Given the description of an element on the screen output the (x, y) to click on. 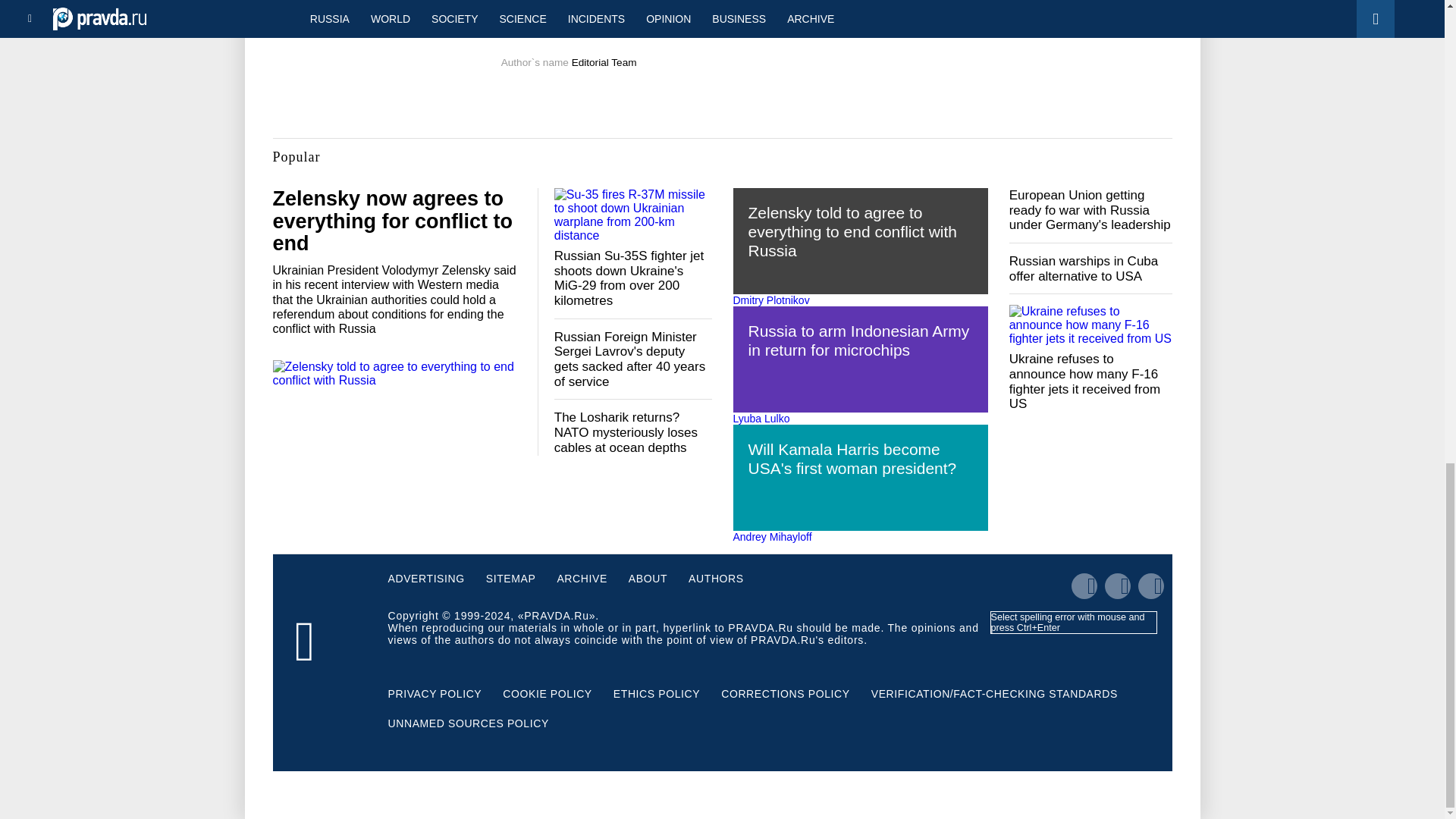
Telegram channel (652, 26)
Facebook (744, 26)
RSS (795, 26)
